Given the description of an element on the screen output the (x, y) to click on. 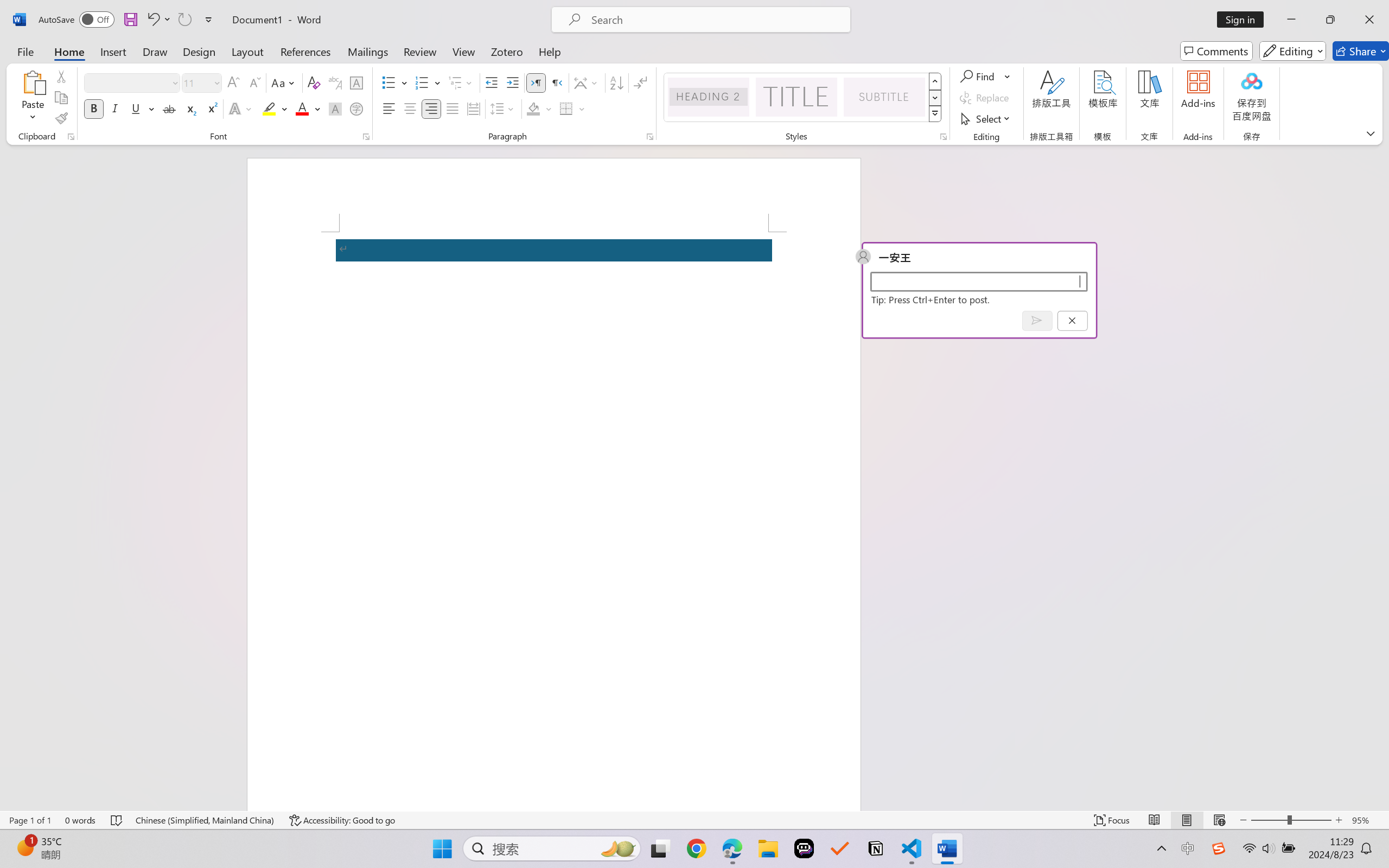
Shading No Color (533, 108)
Left-to-Right (535, 82)
Undo (158, 19)
Text Highlight Color RGB(255, 255, 0) (269, 108)
